Given the description of an element on the screen output the (x, y) to click on. 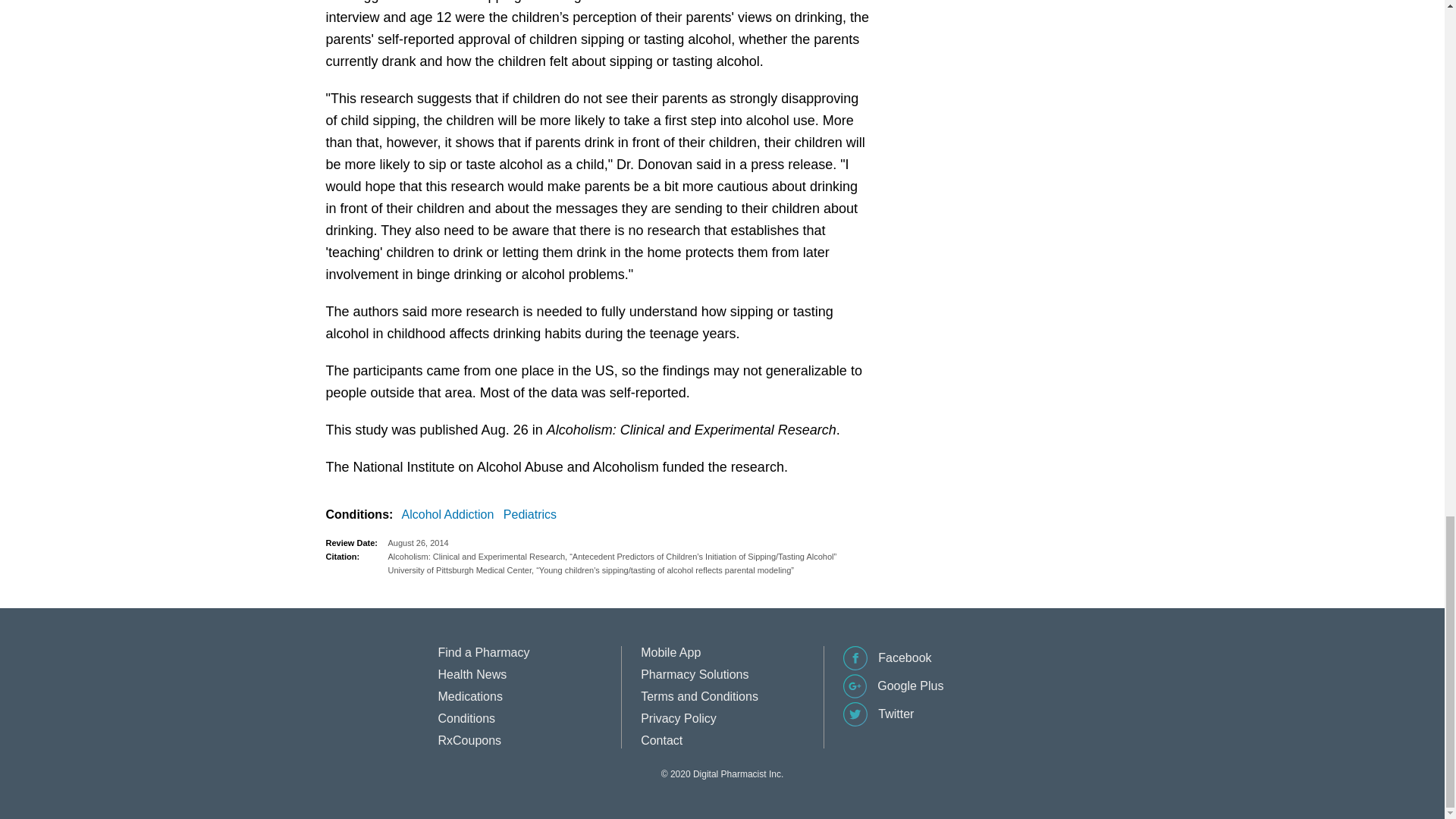
Pediatrics (532, 514)
Alcohol Addiction (450, 514)
